Given the description of an element on the screen output the (x, y) to click on. 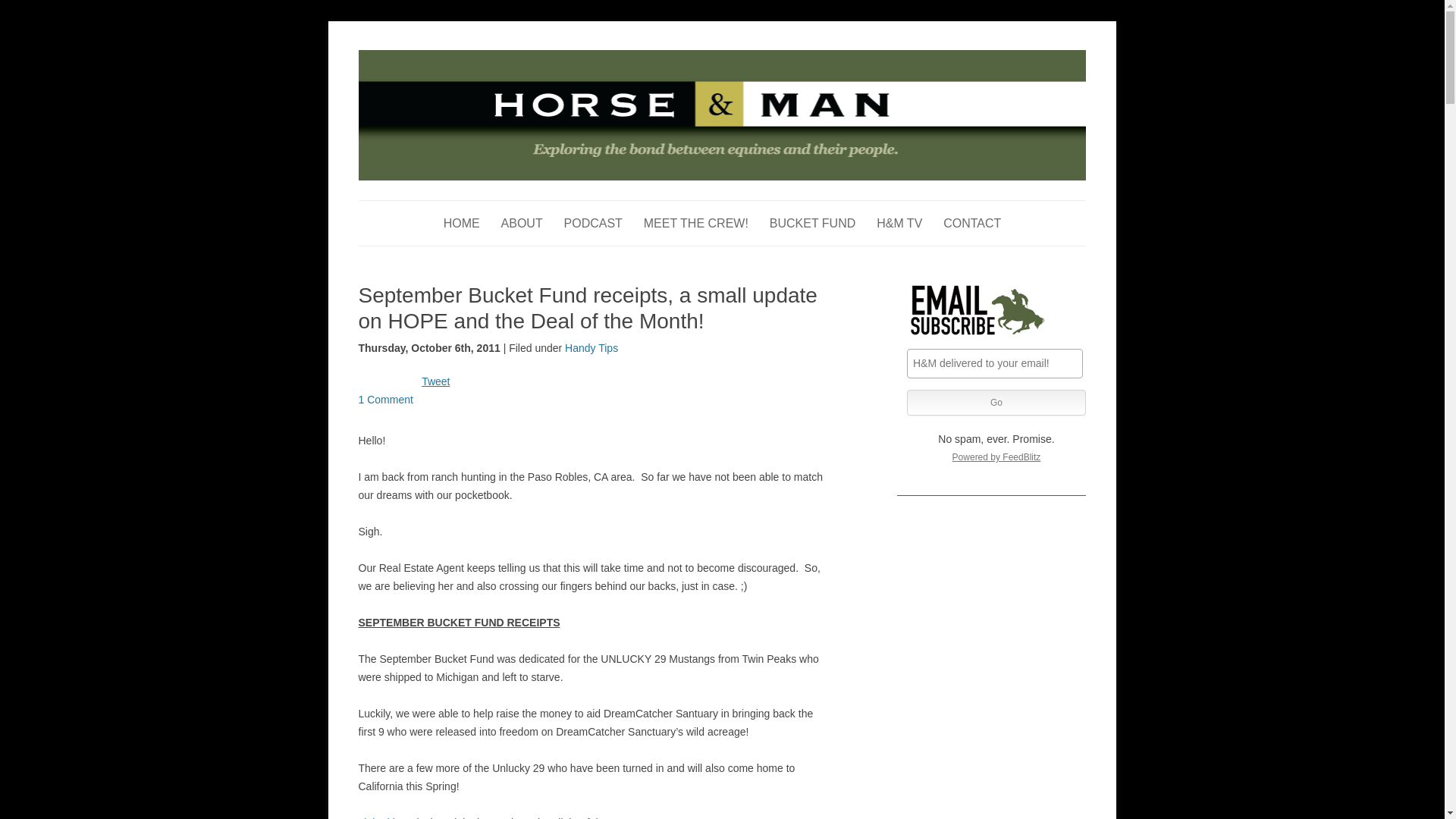
1 Comment (385, 399)
BUCKET FUND (813, 222)
Skip to content (757, 204)
Meet the Horse and Man Crew (695, 222)
CONTACT (972, 222)
About Horse and Man (521, 222)
Linked here (385, 817)
Skip to content (757, 204)
Horse and Man (428, 57)
MEET THE CREW! (695, 222)
